Given the description of an element on the screen output the (x, y) to click on. 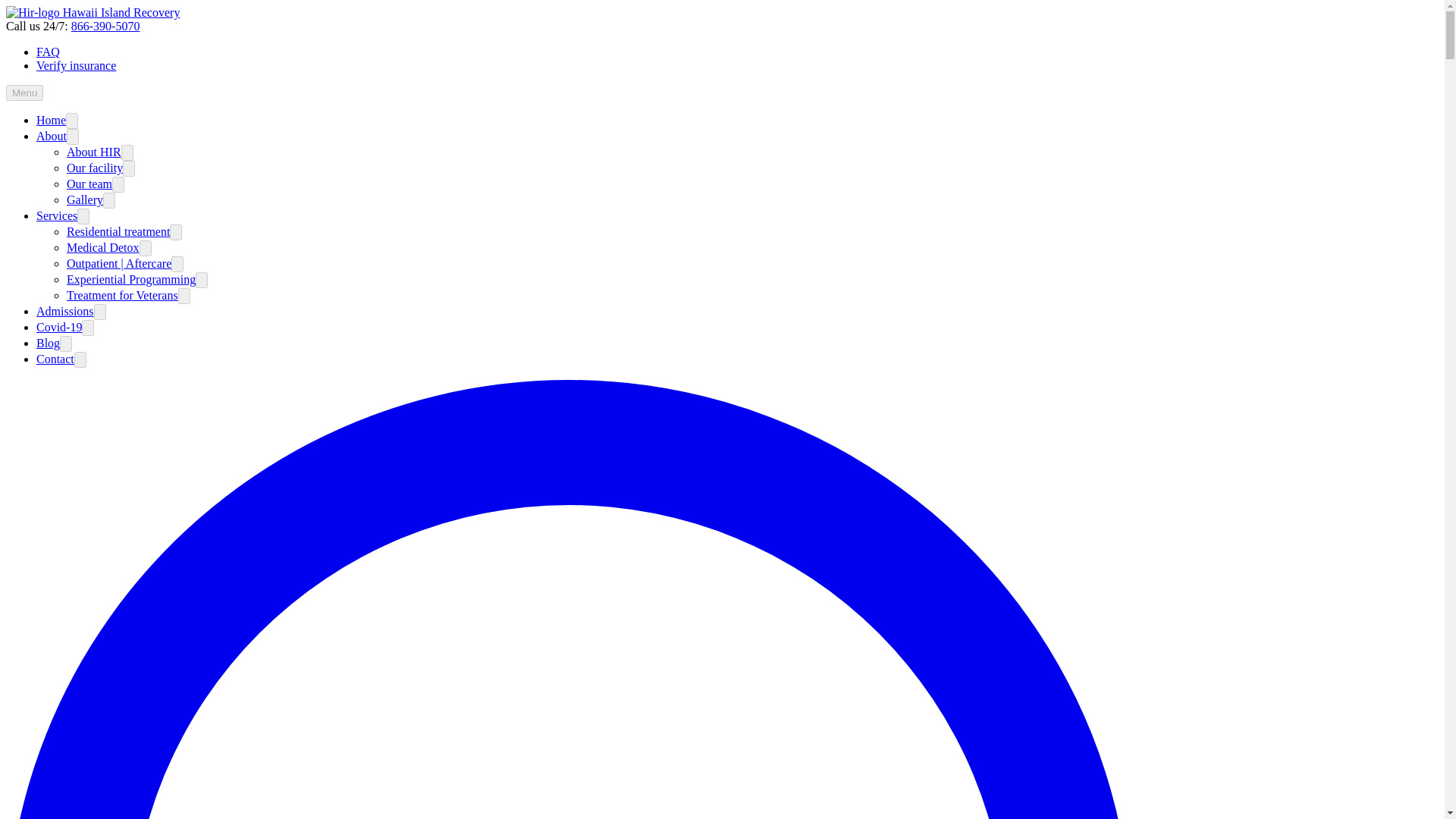
Admissions (65, 310)
Treatment for Veterans (121, 295)
Covid-19 (58, 327)
FAQ (47, 51)
Menu (24, 92)
About (51, 135)
About HIR (93, 151)
Hawaii Island Recovery (92, 11)
Contact (55, 358)
Gallery (84, 199)
Verify insurance (76, 65)
Home (50, 119)
Medical Detox (102, 246)
866-390-5070 (105, 25)
Experiential Programming (130, 278)
